Given the description of an element on the screen output the (x, y) to click on. 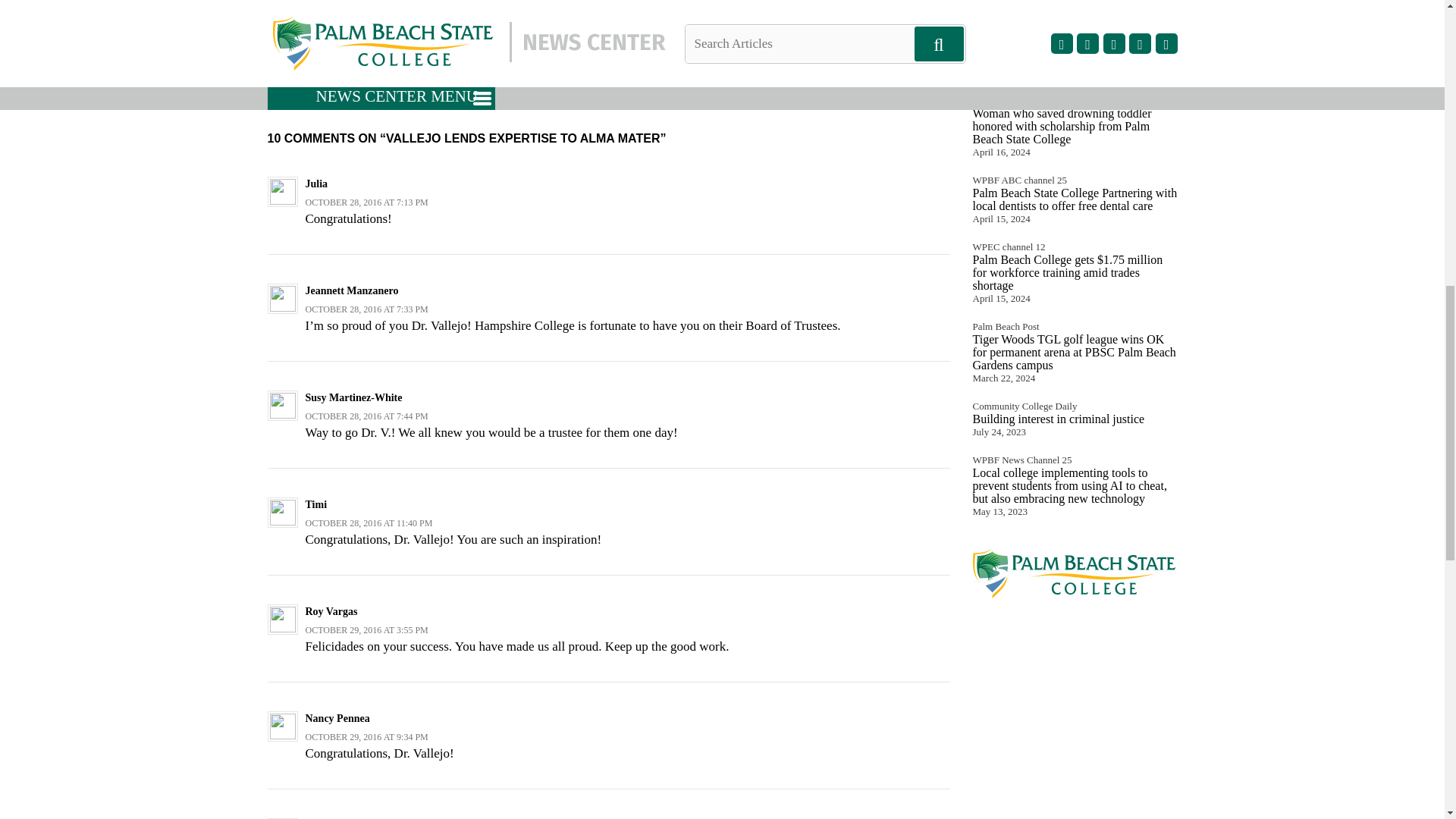
Reddit (450, 63)
StumbleUpon (406, 63)
Facebook (339, 63)
Email (516, 63)
OCTOBER 28, 2016 AT 7:33 PM (366, 308)
OCTOBER 28, 2016 AT 11:40 PM (368, 522)
Delicious (494, 63)
Bebo (472, 63)
Linkedin (383, 63)
OCTOBER 28, 2016 AT 7:44 PM (366, 416)
Digg (427, 63)
OCTOBER 28, 2016 AT 7:13 PM (366, 202)
OCTOBER 29, 2016 AT 9:34 PM (366, 737)
OCTOBER 29, 2016 AT 3:55 PM (366, 629)
Twitter (318, 63)
